Given the description of an element on the screen output the (x, y) to click on. 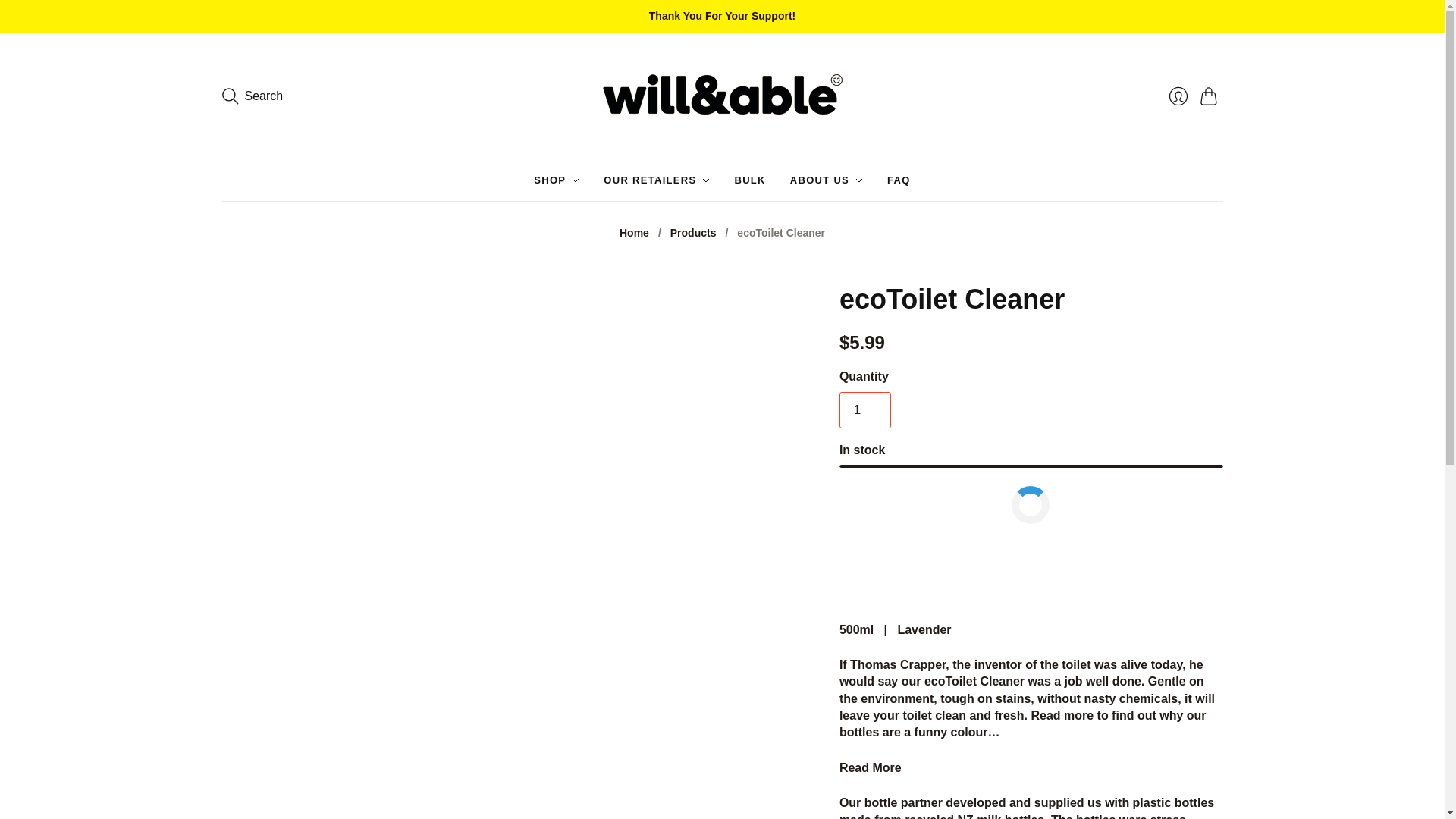
Login (1177, 96)
1 (865, 410)
BULK (749, 180)
Read More (870, 767)
Cart (1210, 96)
Search (251, 95)
FAQ (898, 180)
